Given the description of an element on the screen output the (x, y) to click on. 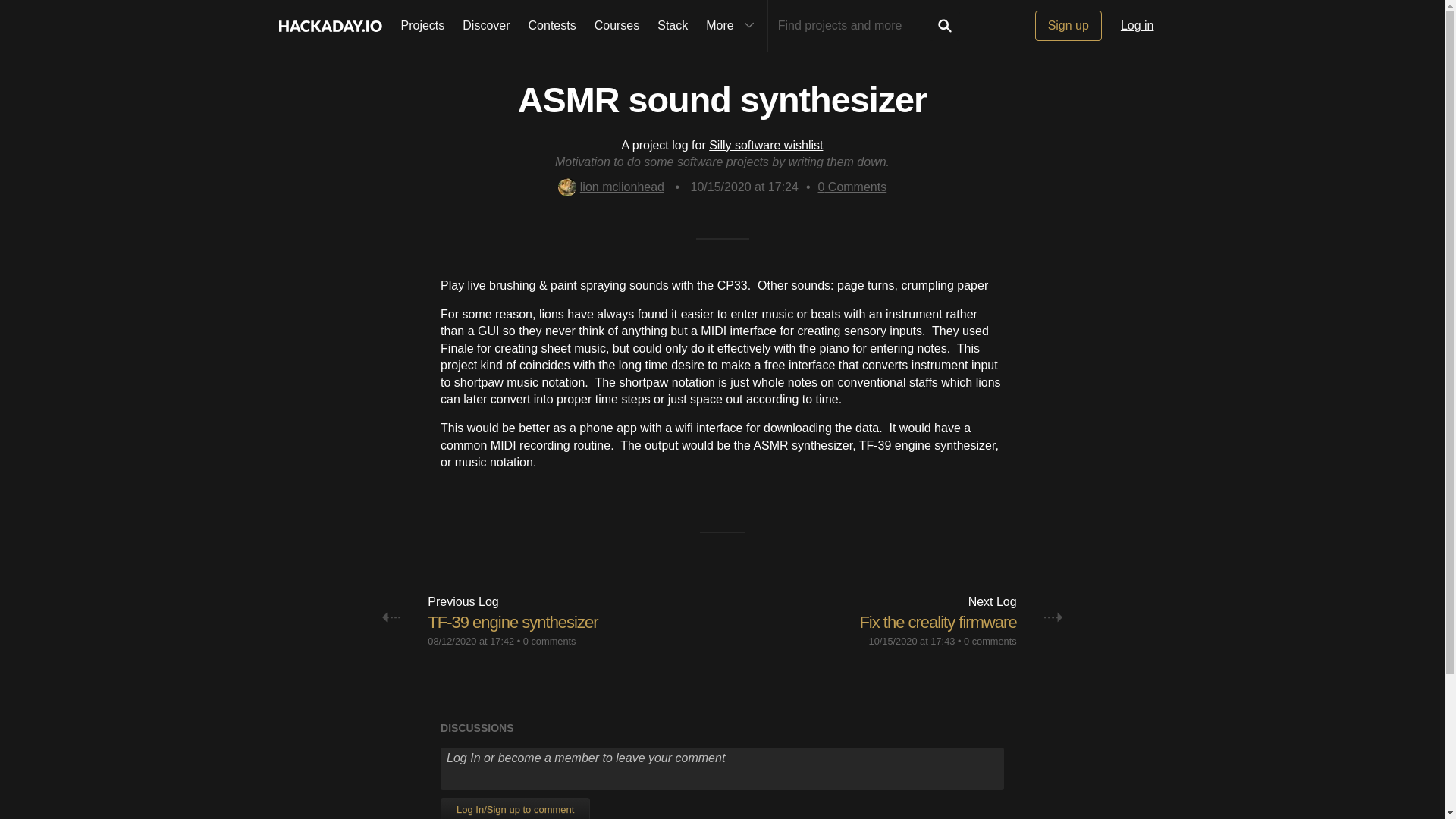
0 comments (989, 641)
Log in (1137, 25)
Fix the creality firmware (937, 621)
Stack (672, 25)
More (732, 25)
4 years ago (470, 641)
0 Comments (851, 186)
Silly software wishlist (765, 144)
0 comments (549, 641)
Search (944, 25)
Contests (552, 25)
Hackaday.io (329, 25)
Sign up (1068, 25)
Courses (617, 25)
Two characters minimum (853, 25)
